Given the description of an element on the screen output the (x, y) to click on. 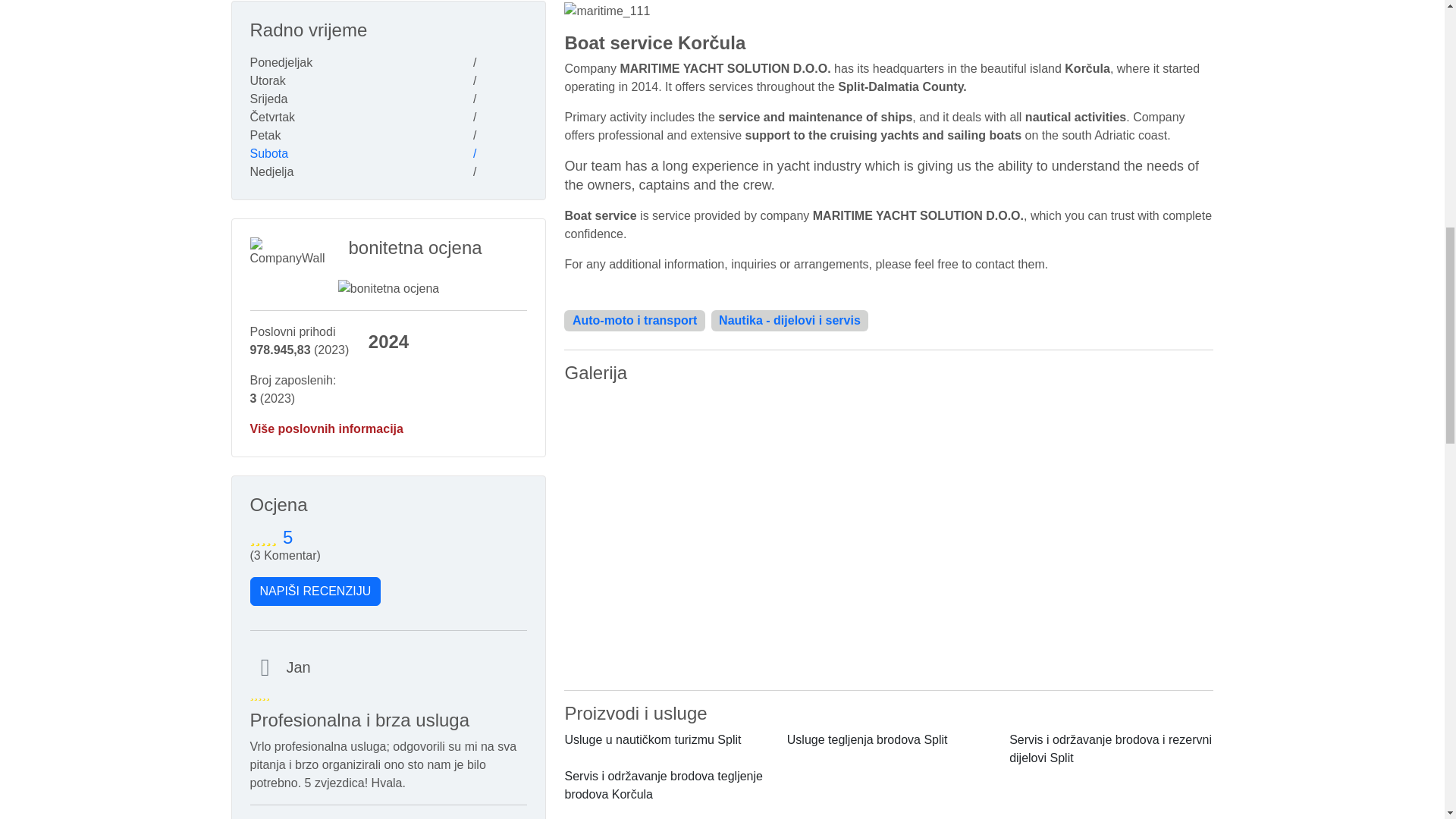
Usluge tegljenja brodova Split (867, 739)
Auto-moto i transport (634, 320)
maritime 222.jpg (888, 461)
Usluge tegljenja brodova Split (867, 739)
maritime 333.jpg (888, 605)
Nautika - dijelovi i servis (790, 320)
